Given the description of an element on the screen output the (x, y) to click on. 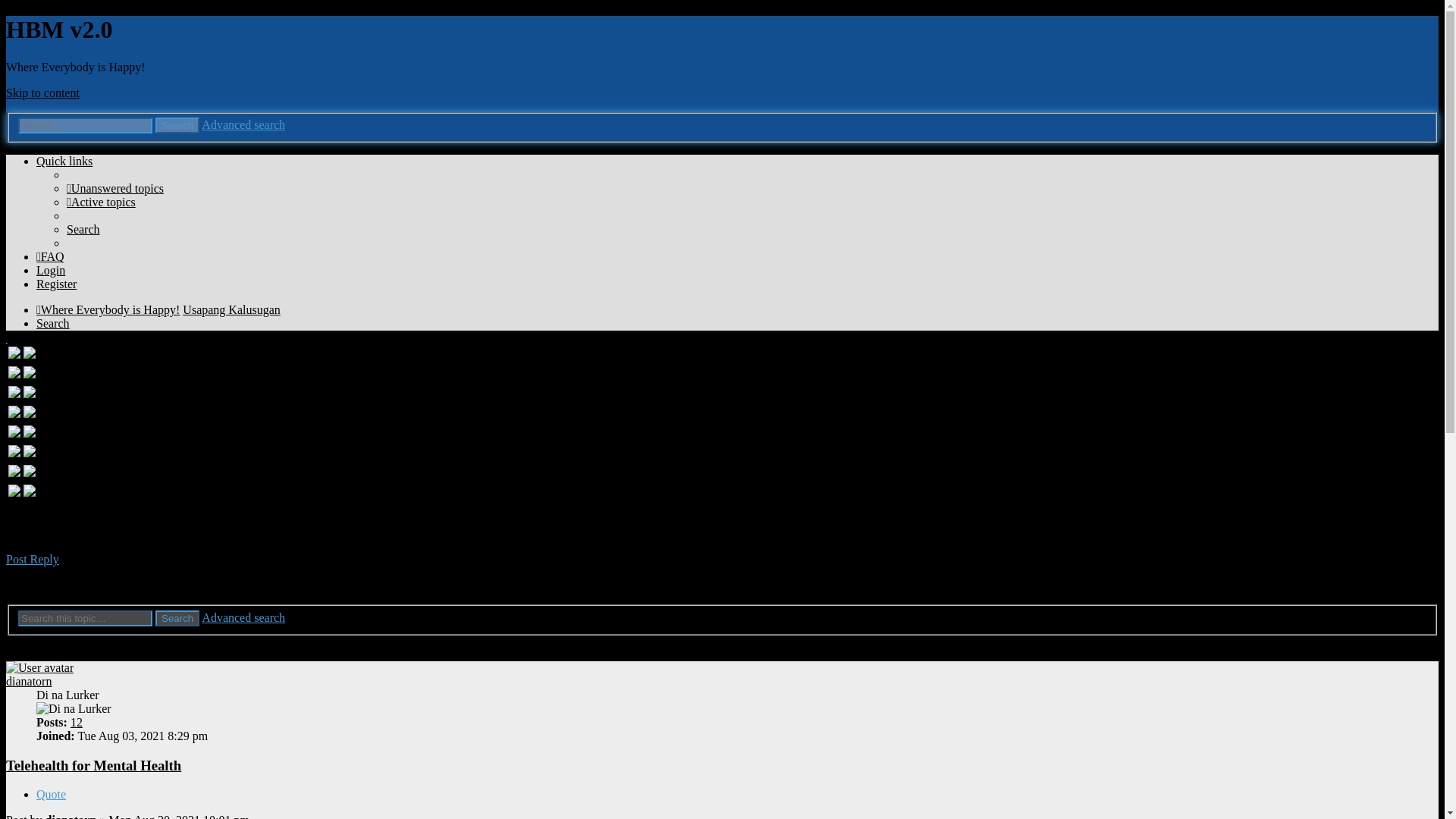
Skip to content (42, 92)
Advanced search (243, 124)
Print view (60, 584)
12 (75, 721)
Post a reply (32, 558)
Register (56, 283)
Usapang Kalusugan (231, 309)
Search (83, 228)
Print view (60, 584)
Telehealth for Mental Health (118, 526)
Post (17, 816)
Reply with quote (50, 793)
Active topics (100, 201)
Advanced search (243, 617)
Quick links (64, 160)
